Given the description of an element on the screen output the (x, y) to click on. 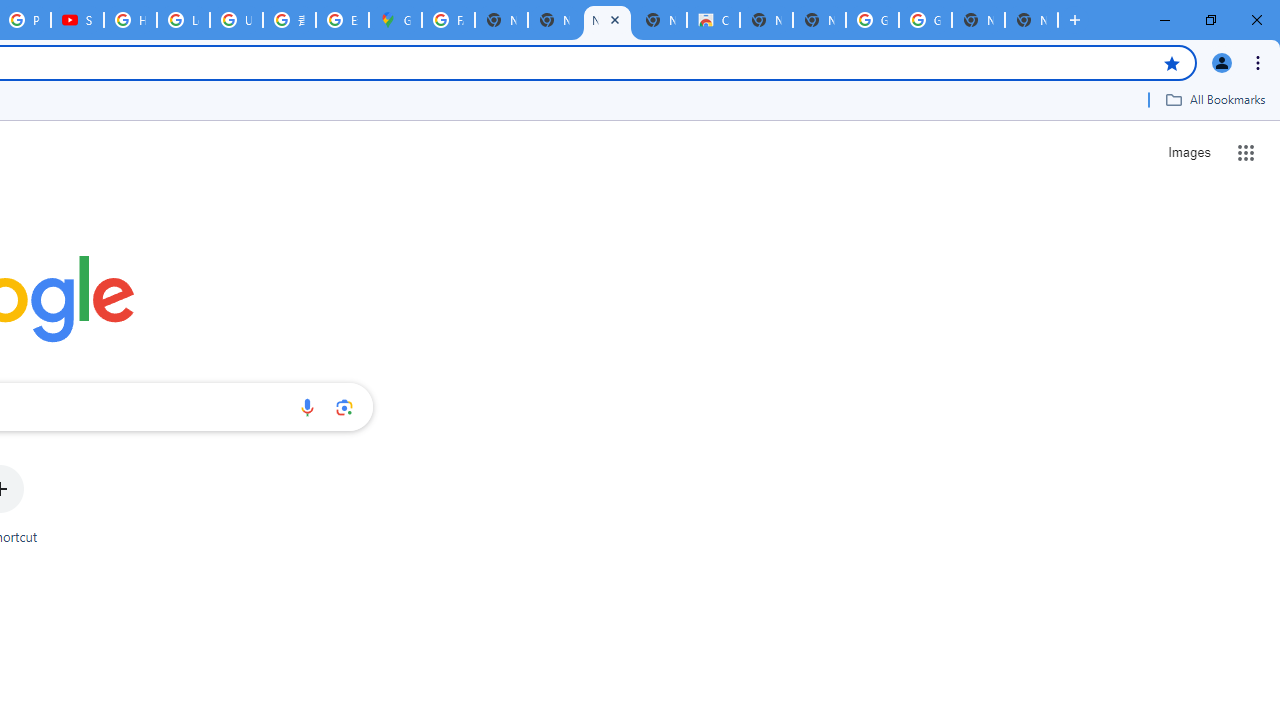
Chrome Web Store (713, 20)
Google Images (925, 20)
Explore new street-level details - Google Maps Help (342, 20)
